Given the description of an element on the screen output the (x, y) to click on. 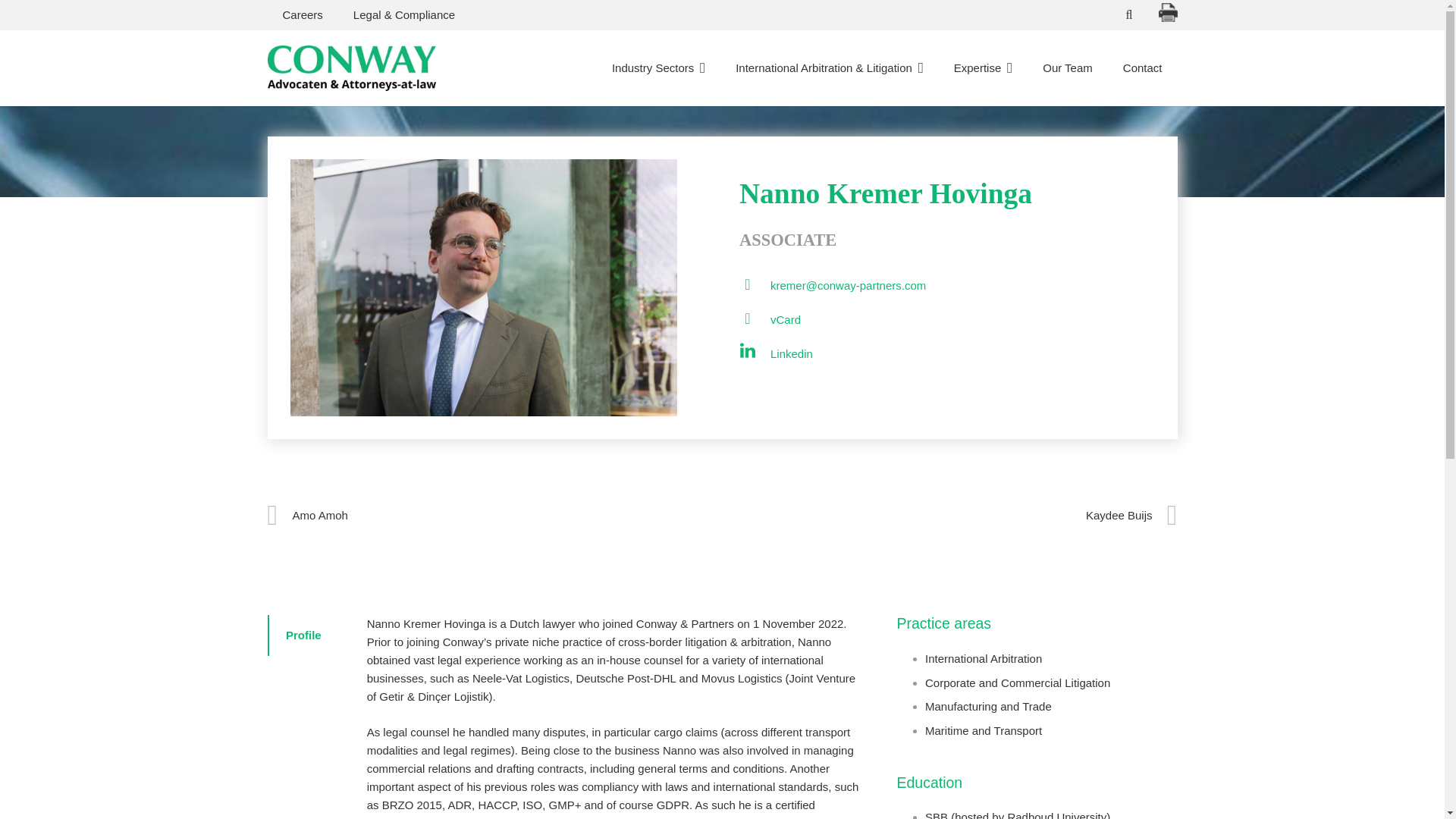
Kaydee Buijs (949, 515)
Amo Amoh (494, 515)
Kaydee Buijs (949, 515)
Industry Sectors (658, 68)
Amo Amoh (494, 515)
Our Team (1067, 68)
Careers (301, 15)
Profile (301, 635)
Contact (1142, 68)
Expertise (983, 68)
